Given the description of an element on the screen output the (x, y) to click on. 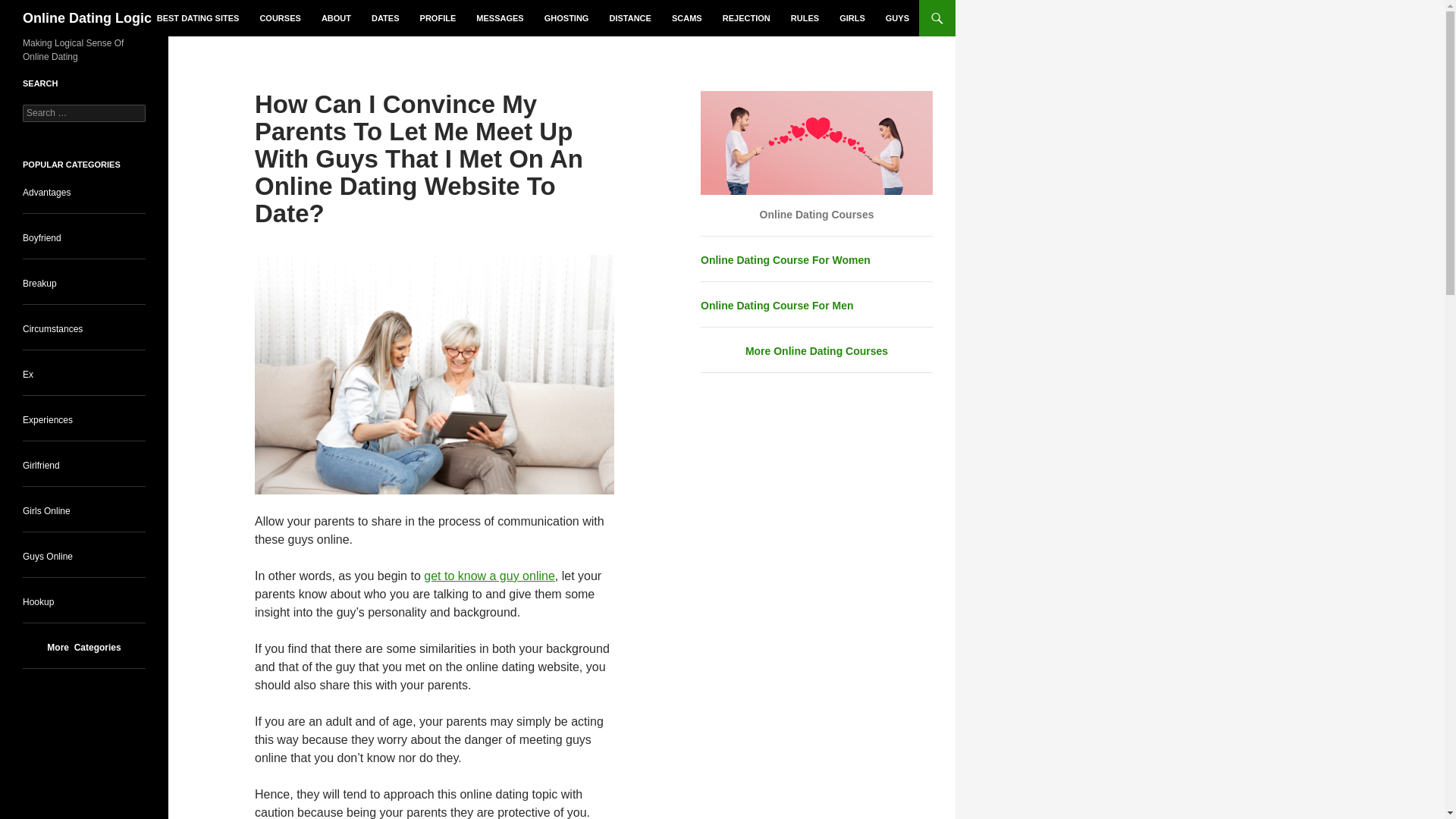
Circumstances (52, 328)
Girlfriend (41, 465)
Experiences (47, 419)
Breakup (39, 283)
GIRLS (852, 18)
GUYS (897, 18)
COURSES (279, 18)
Boyfriend (42, 237)
REJECTION (745, 18)
DISTANCE (629, 18)
SCAMS (686, 18)
Advantages (46, 192)
get to know a guy online (488, 575)
Online Dating Course For Men (776, 305)
More Online Dating Courses (816, 350)
